Given the description of an element on the screen output the (x, y) to click on. 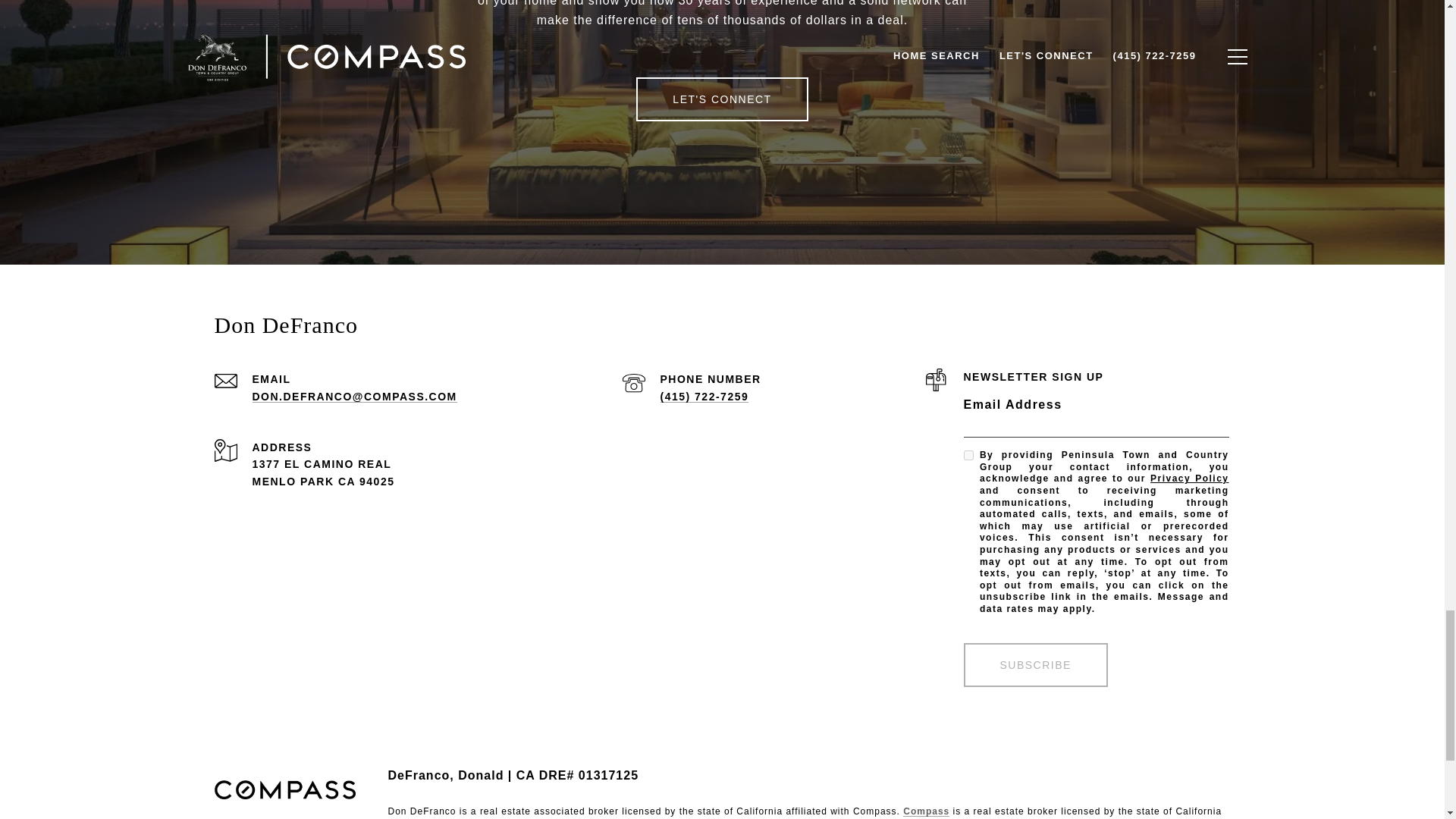
on (967, 455)
LET'S CONNECT (722, 98)
